Given the description of an element on the screen output the (x, y) to click on. 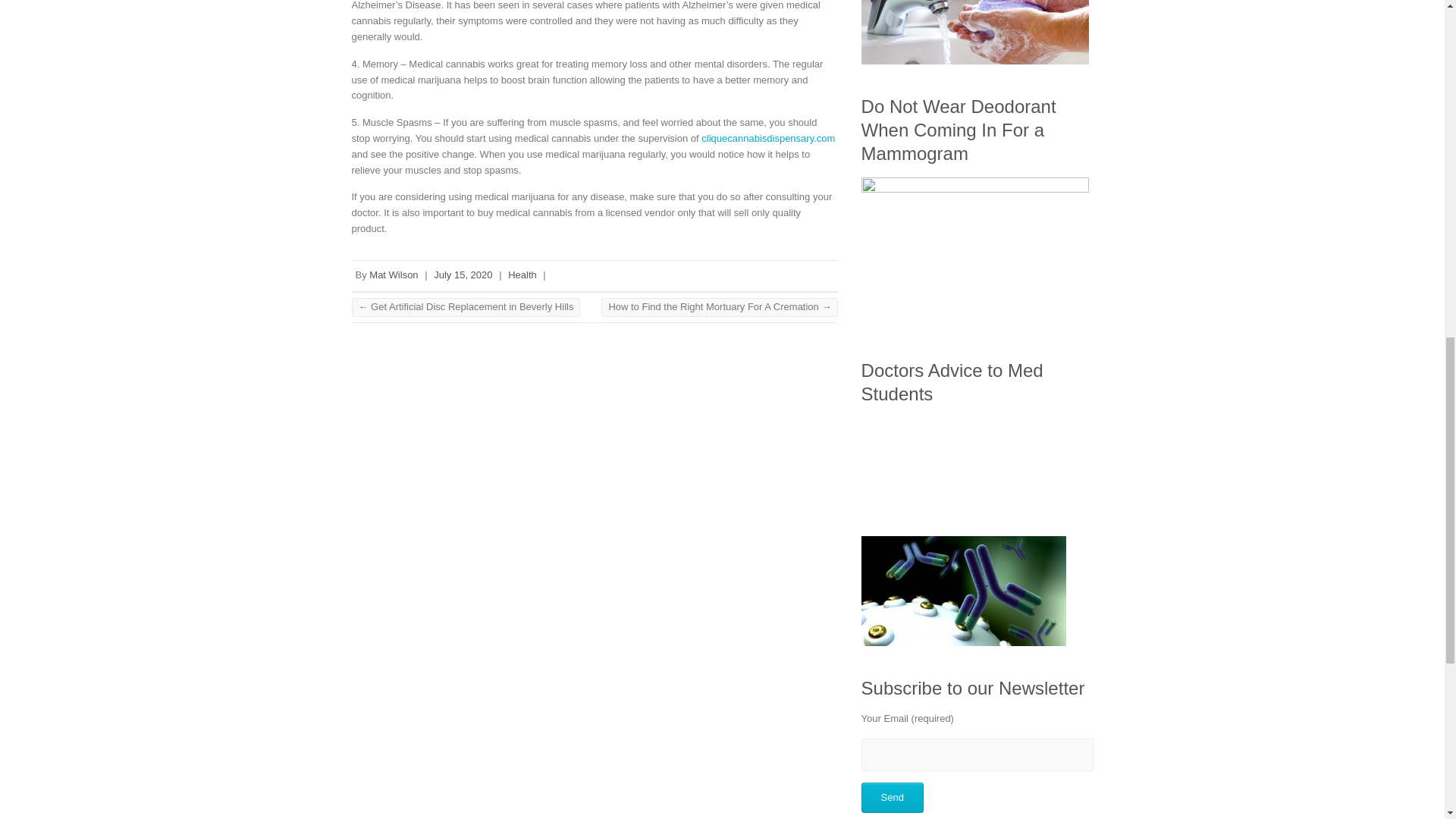
Health (522, 274)
Mat Wilson (393, 274)
Send (892, 797)
cliquecannabisdispensary.com (767, 138)
Send (892, 797)
July 15, 2020 (462, 274)
7:20 pm (462, 274)
